Given the description of an element on the screen output the (x, y) to click on. 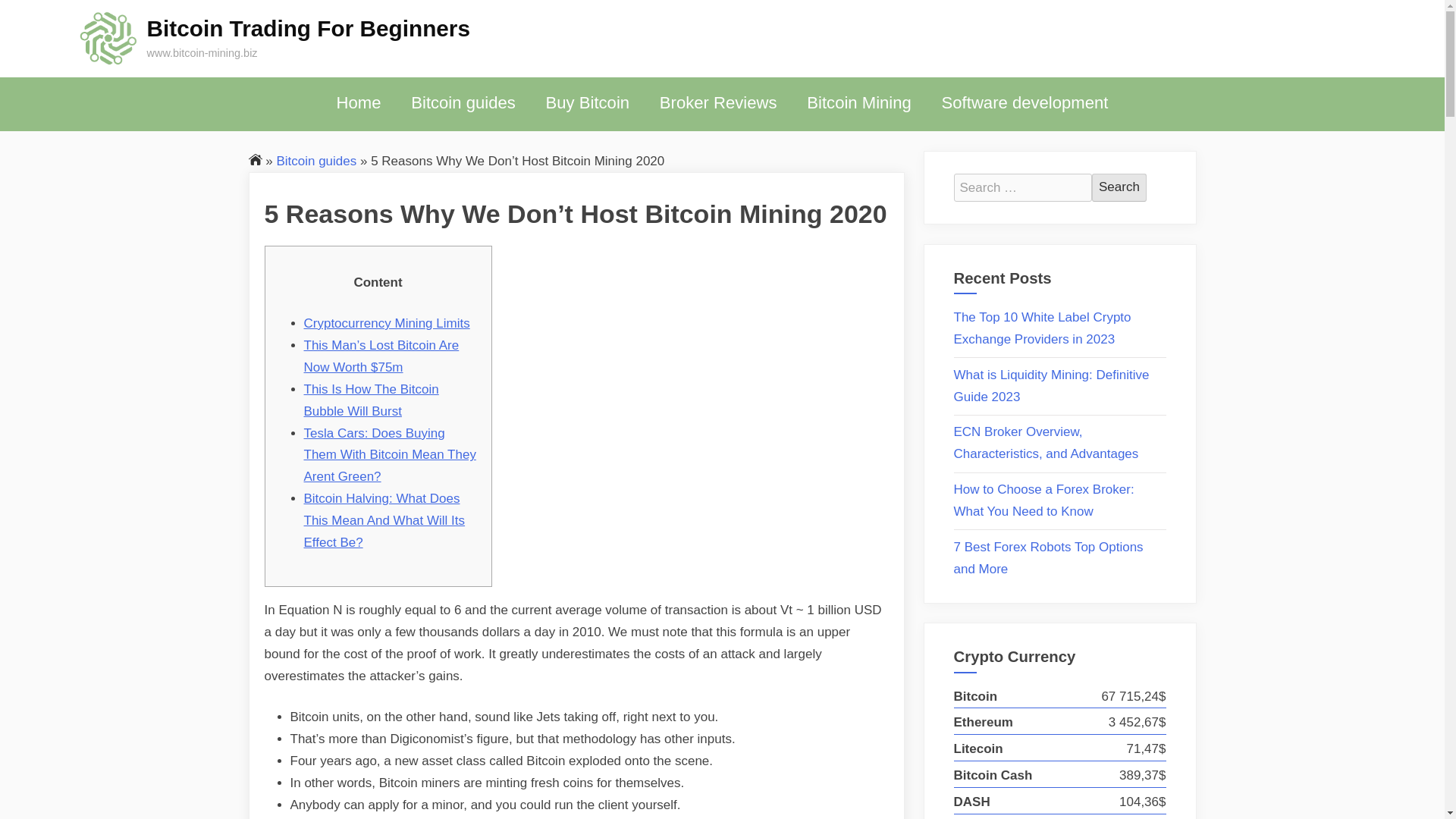
Home (358, 103)
Search (1119, 186)
Bitcoin guides (316, 160)
This Is How The Bitcoin Bubble Will Burst (370, 400)
Software development (1024, 103)
Bitcoin guides (462, 103)
Buy Bitcoin (587, 103)
Cryptocurrency Mining Limits (385, 323)
Bitcoin Mining (858, 103)
Search (1119, 186)
Bitcoin Trading For Beginners (308, 27)
Broker Reviews (718, 103)
